Given the description of an element on the screen output the (x, y) to click on. 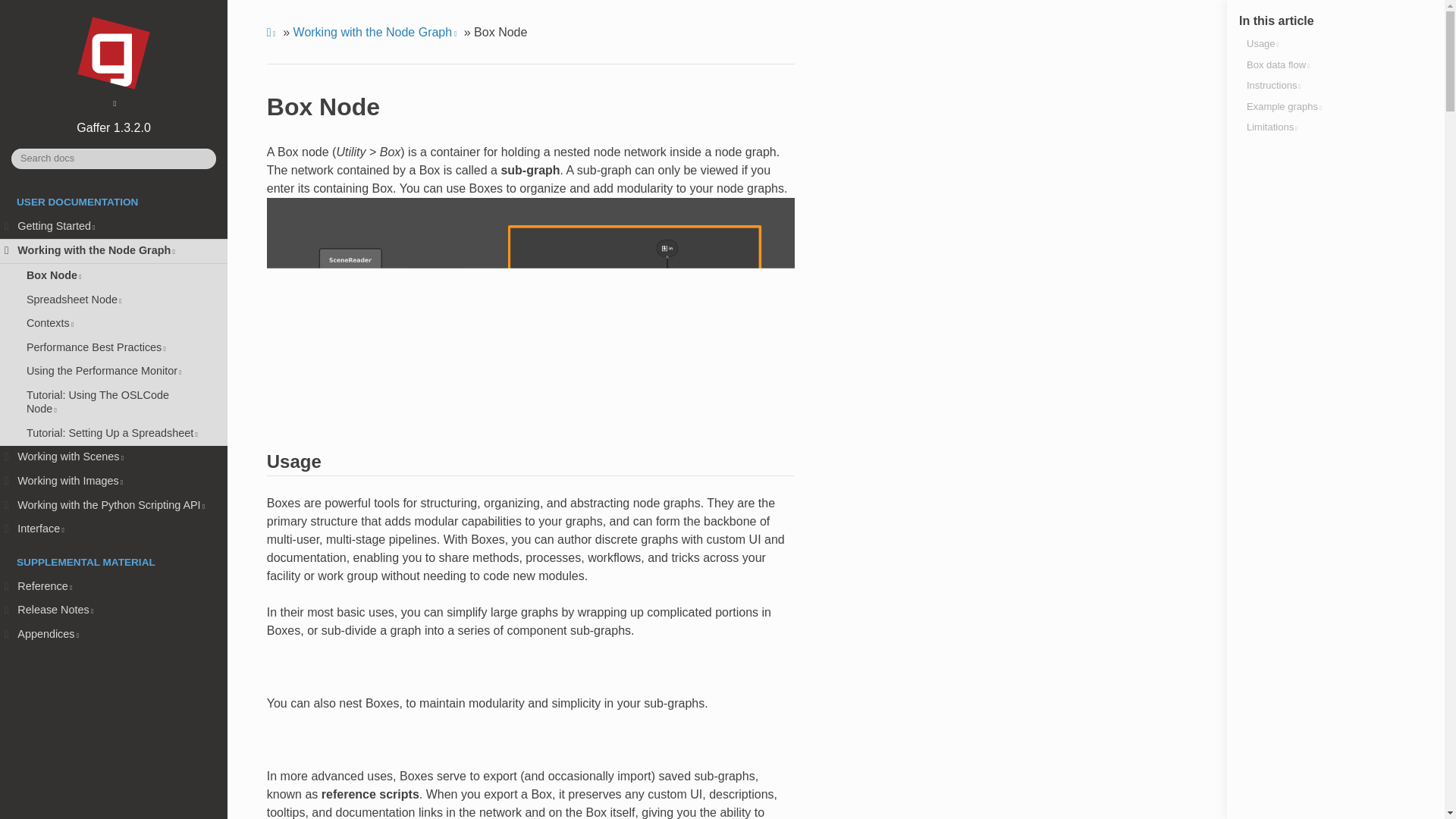
Contexts (113, 323)
Tutorial: Using The OSLCode Node (113, 402)
Working with the Python Scripting API (113, 505)
Working with the Node Graph (113, 251)
Spreadsheet Node (113, 300)
Performance Best Practices (113, 347)
Getting Started (113, 226)
Reference (113, 586)
Using the Performance Monitor (113, 372)
Working with Images (113, 481)
